Given the description of an element on the screen output the (x, y) to click on. 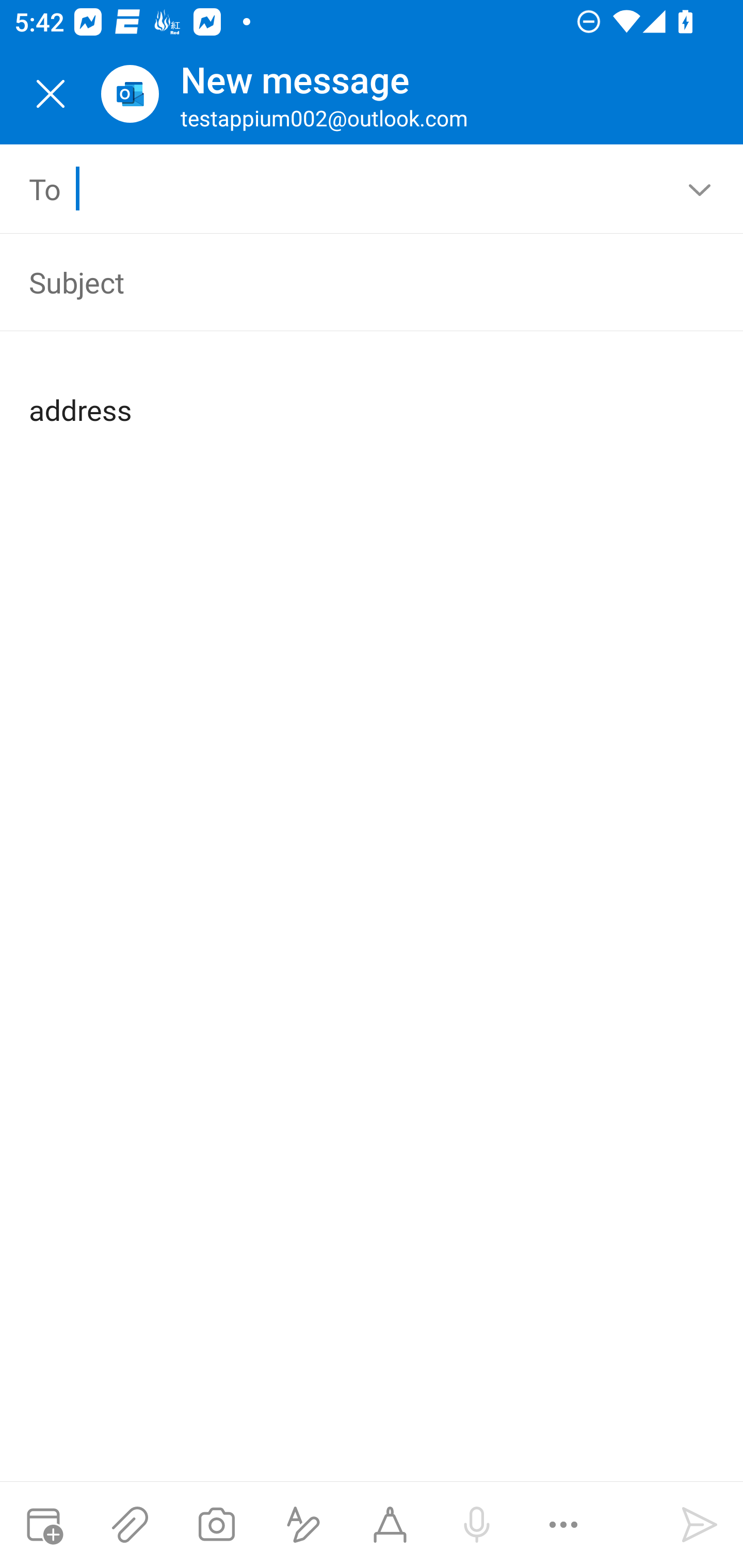
Close (50, 93)
Subject (342, 281)

address (372, 394)
Attach meeting (43, 1524)
Attach files (129, 1524)
Take a photo (216, 1524)
Show formatting options (303, 1524)
Start Ink compose (389, 1524)
More options (563, 1524)
Send (699, 1524)
